Given the description of an element on the screen output the (x, y) to click on. 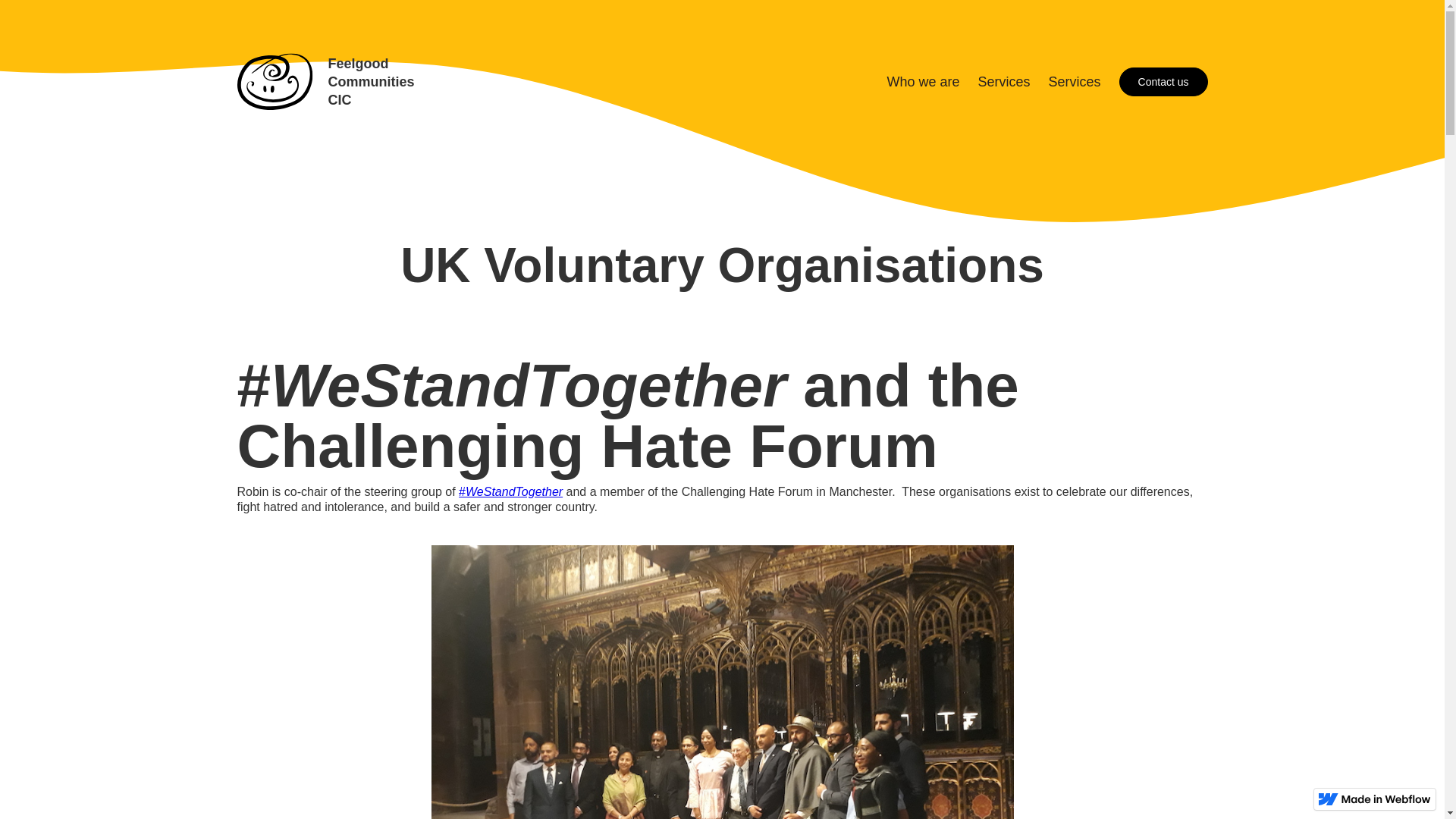
Contact us (1163, 81)
Who we are (324, 81)
Services (920, 81)
Services (1071, 81)
